Given the description of an element on the screen output the (x, y) to click on. 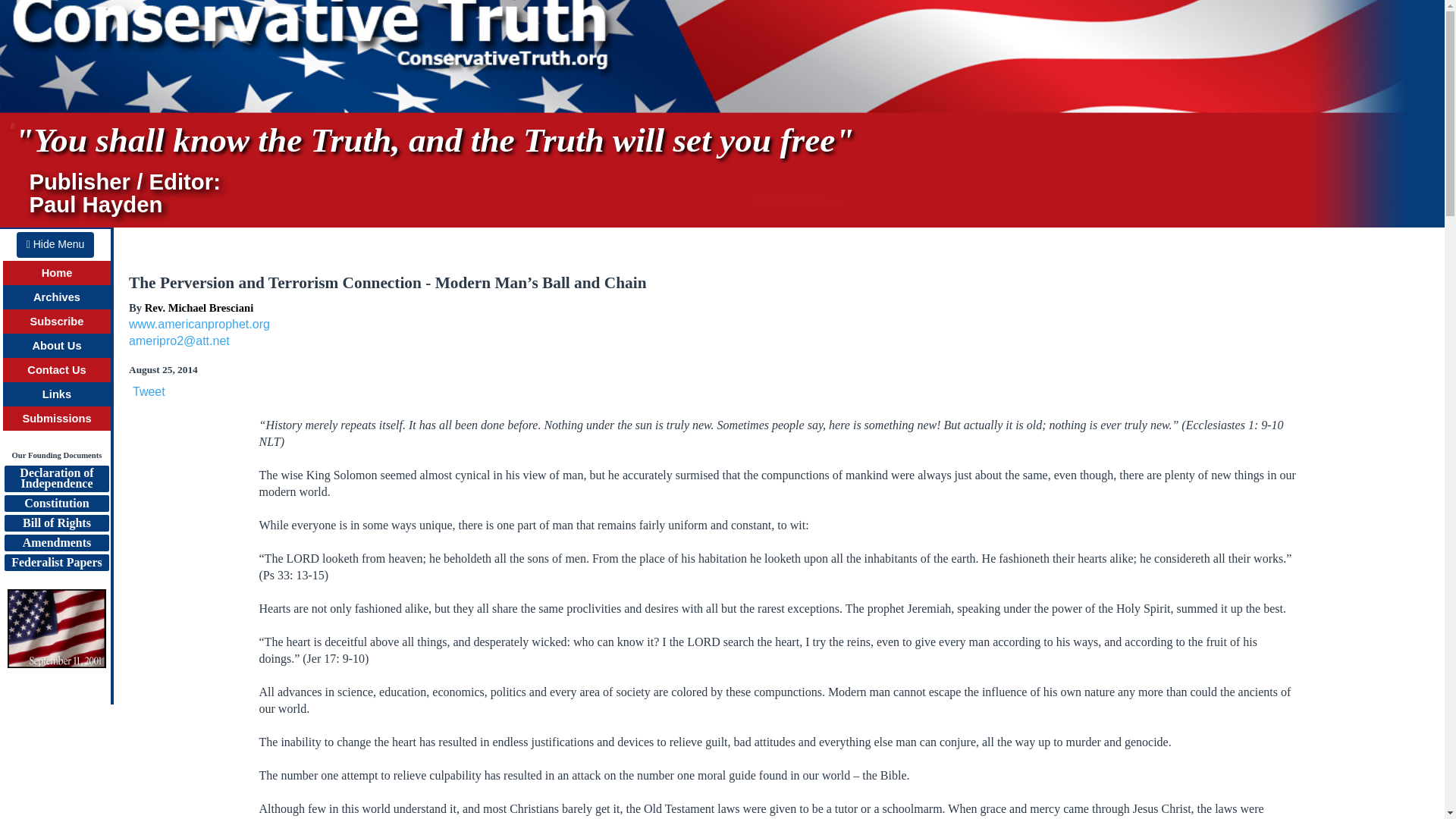
Links (56, 394)
Bill of Rights (56, 523)
Home (57, 272)
Hide Menu (56, 479)
Rev. Michael Bresciani (55, 244)
Amendments (198, 307)
www.americanprophet.org (56, 542)
Tweet (199, 323)
Federalist Papers (148, 391)
Submissions (56, 562)
About Us (55, 418)
Constitution (56, 345)
Archives (56, 503)
Subscribe (56, 297)
